Given the description of an element on the screen output the (x, y) to click on. 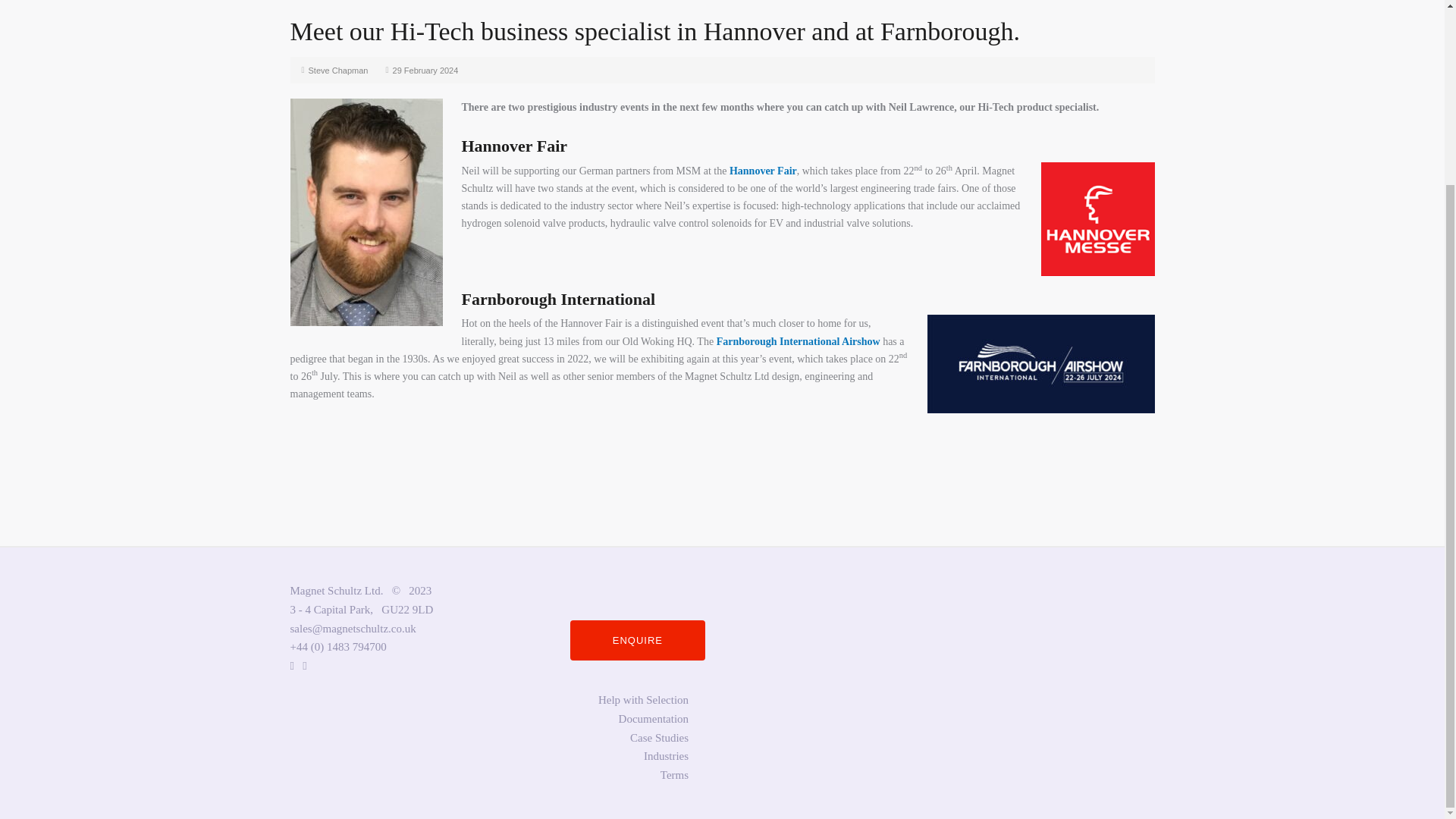
Documentation (653, 718)
Terms (674, 775)
Posts by Steve Chapman (338, 70)
Farnborough International Airshow (798, 341)
Hannover Fair (762, 170)
Steve Chapman (338, 70)
Help with Selection (643, 699)
Industries (665, 756)
ENQUIRE (637, 639)
29 February 2024 (425, 70)
